Given the description of an element on the screen output the (x, y) to click on. 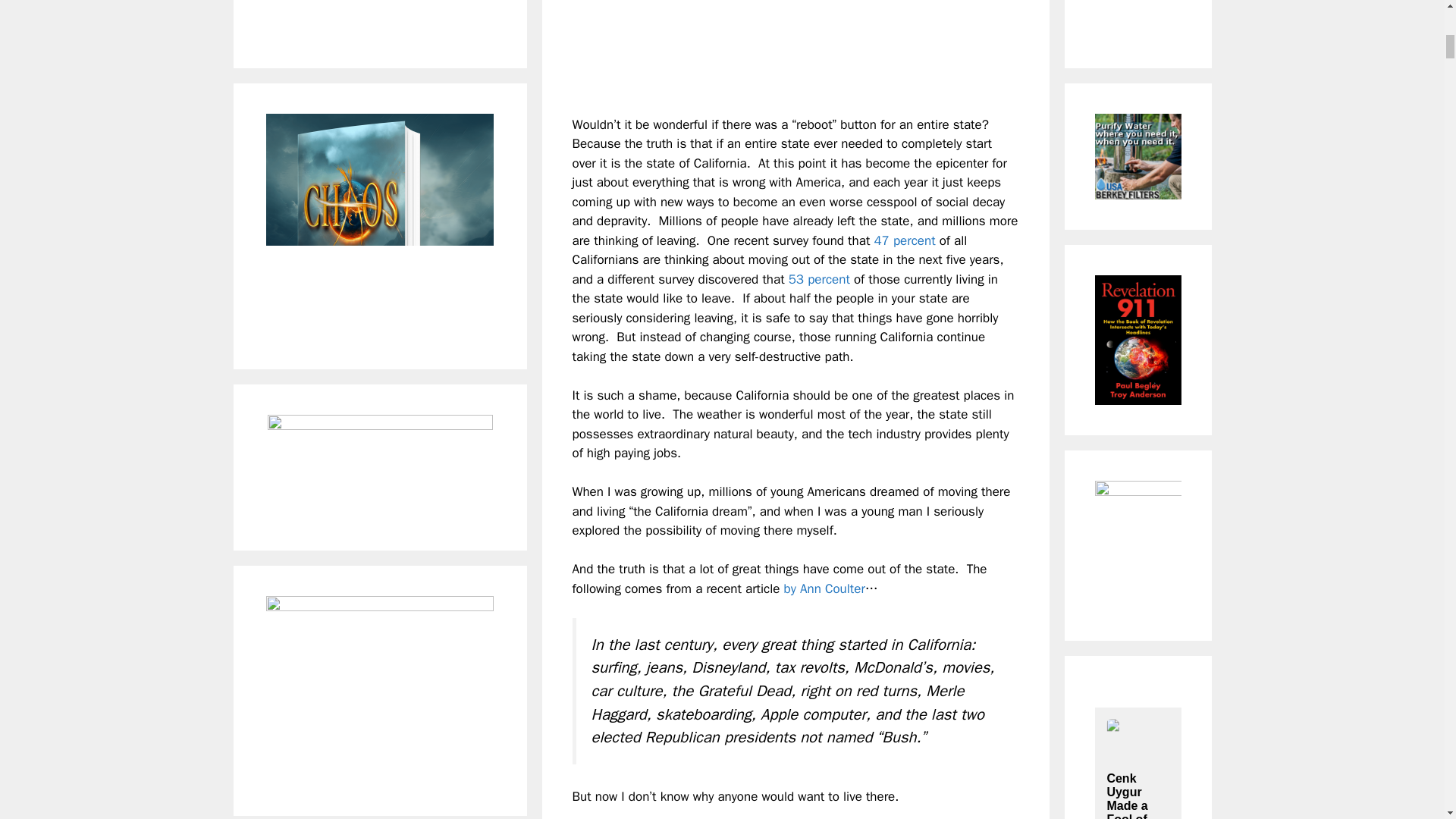
53 percent (819, 279)
47 percent (903, 240)
by Ann Coulter (824, 588)
53 percent (819, 279)
by Ann Coulter (824, 588)
47 percent (903, 240)
